Given the description of an element on the screen output the (x, y) to click on. 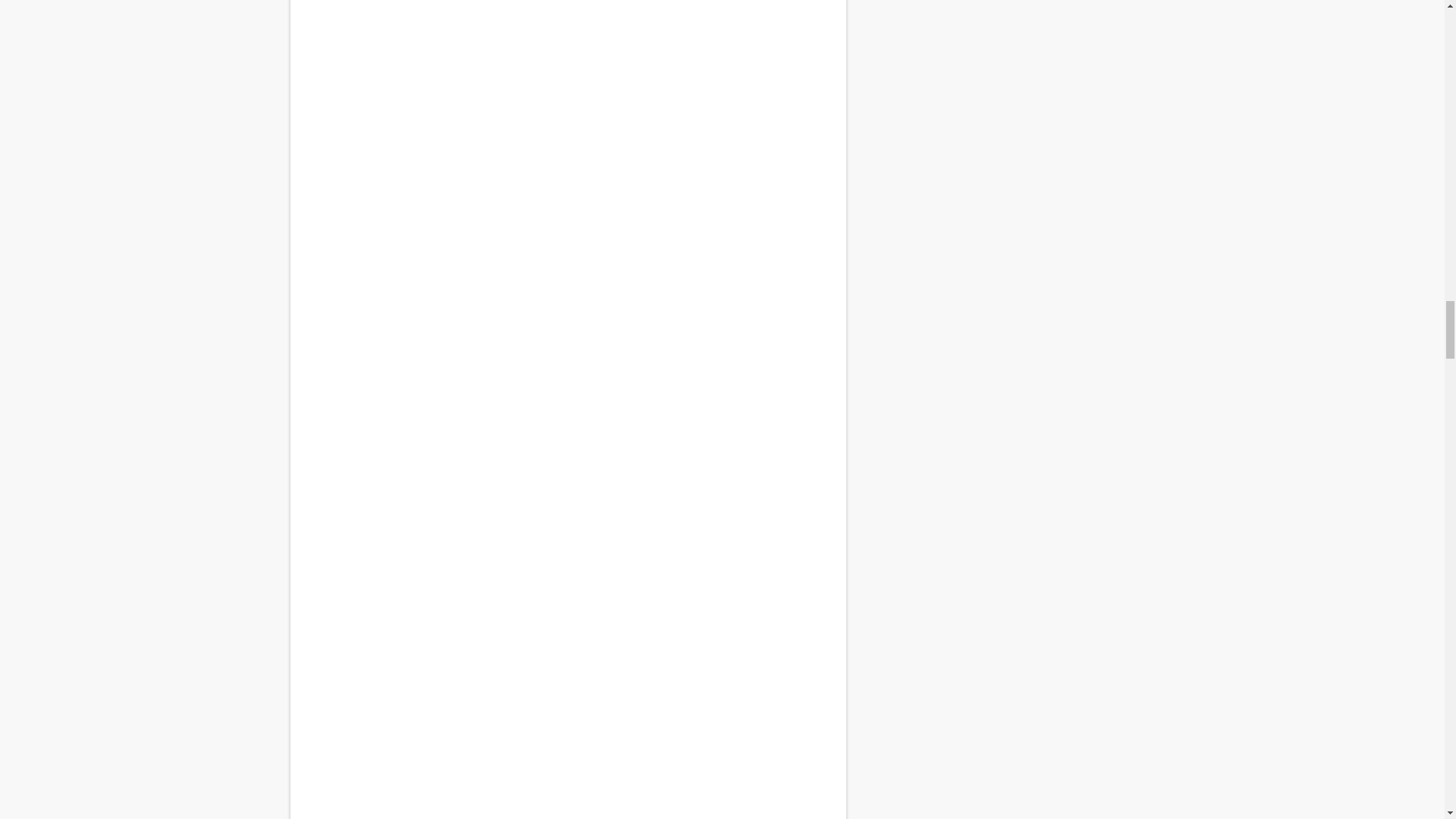
Fill in the blanks (567, 713)
